Given the description of an element on the screen output the (x, y) to click on. 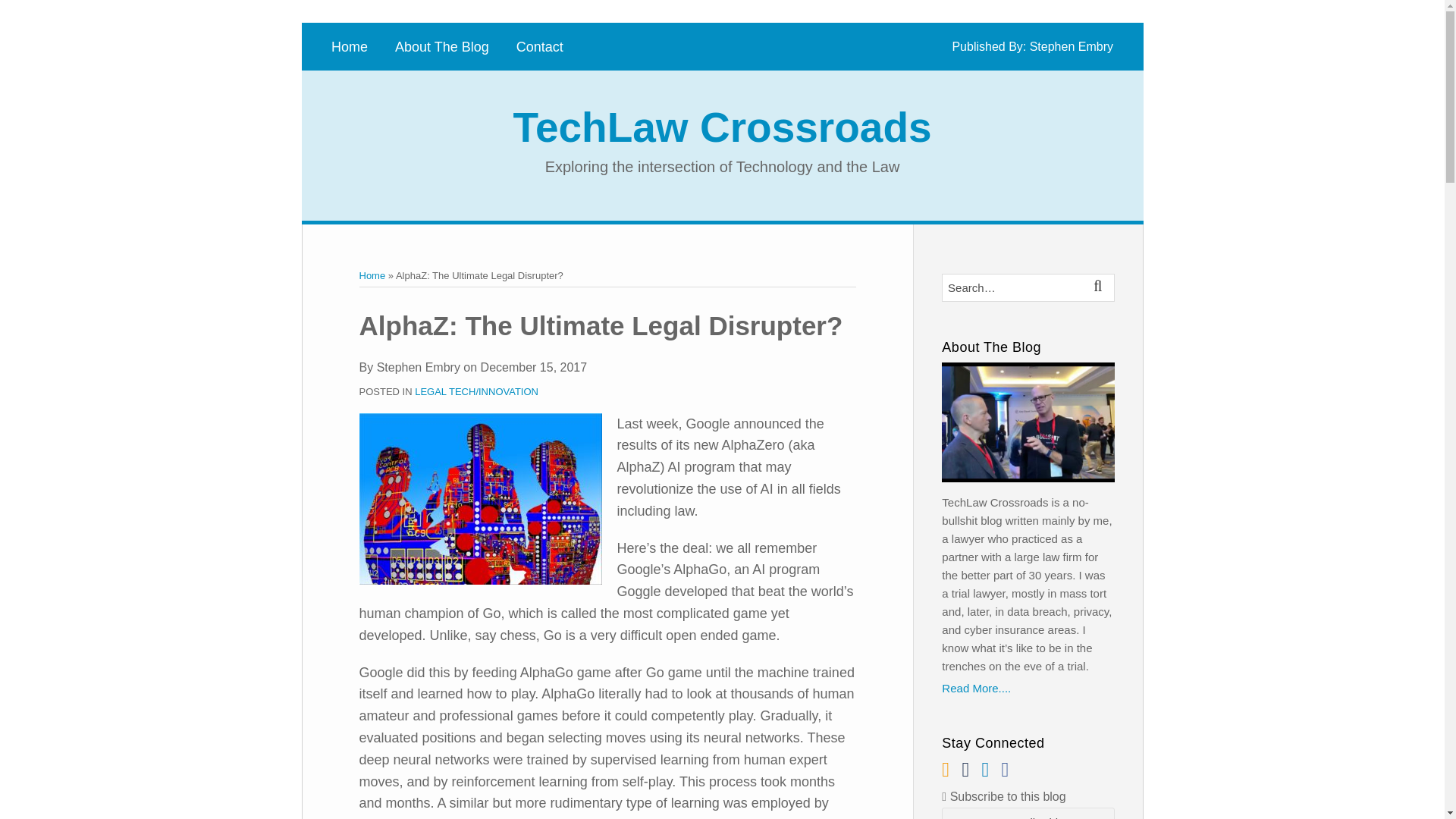
TechLaw Crossroads (721, 127)
Home (349, 46)
Home (372, 275)
Read More.... (1027, 688)
SEARCH (1099, 288)
Contact (539, 46)
About The Blog (441, 46)
Stephen Embry (1071, 46)
